Given the description of an element on the screen output the (x, y) to click on. 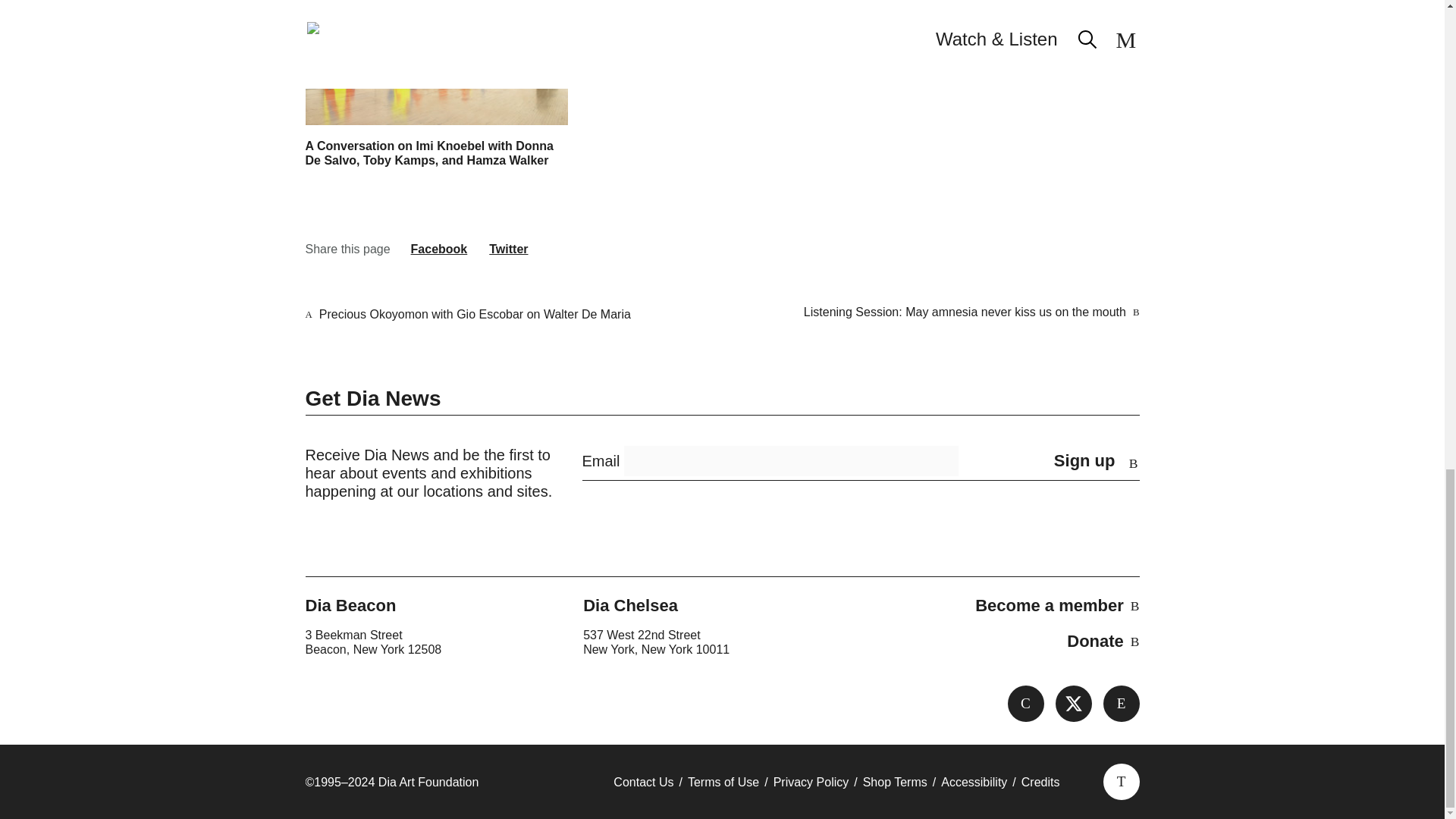
Facebook (1025, 703)
Next (964, 313)
Previous (474, 313)
X (1073, 703)
Instagram (1120, 703)
go to top (1120, 781)
